Given the description of an element on the screen output the (x, y) to click on. 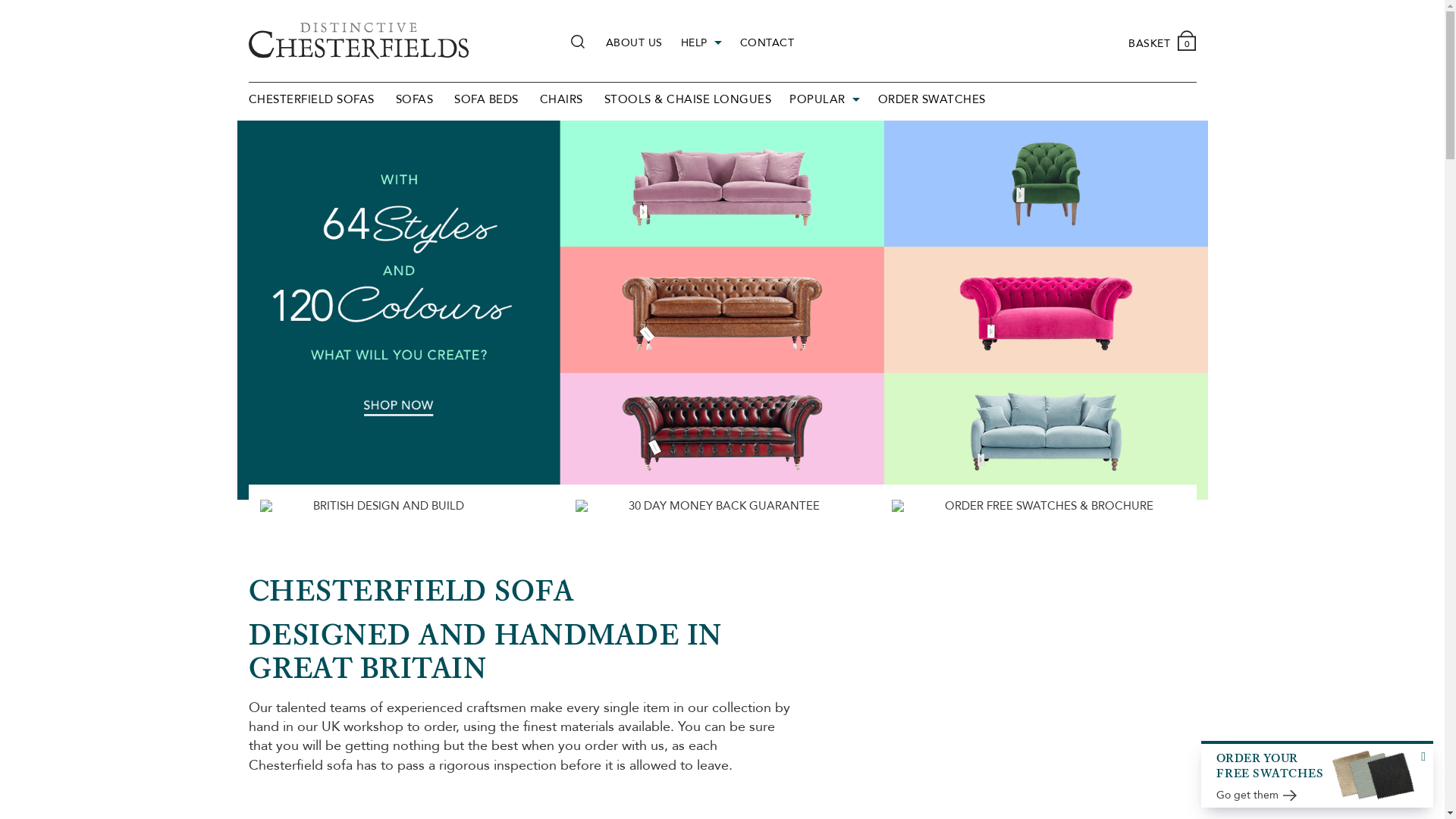
POPULAR Element type: text (826, 99)
SOFAS Element type: text (414, 99)
CONTACT Element type: text (767, 42)
CHESTERFIELD SOFAS Element type: text (311, 99)
STOOLS & CHAISE LONGUES Element type: text (687, 99)
HELP Element type: text (702, 42)
BASKET
0 Element type: text (1161, 44)
CHAIRS Element type: text (561, 99)
SOFA BEDS Element type: text (486, 99)
ORDER YOUR
FREE SWATCHES
Go get them Element type: text (1317, 773)
ORDER SWATCHES Element type: text (931, 99)
ABOUT US Element type: text (633, 42)
